Given the description of an element on the screen output the (x, y) to click on. 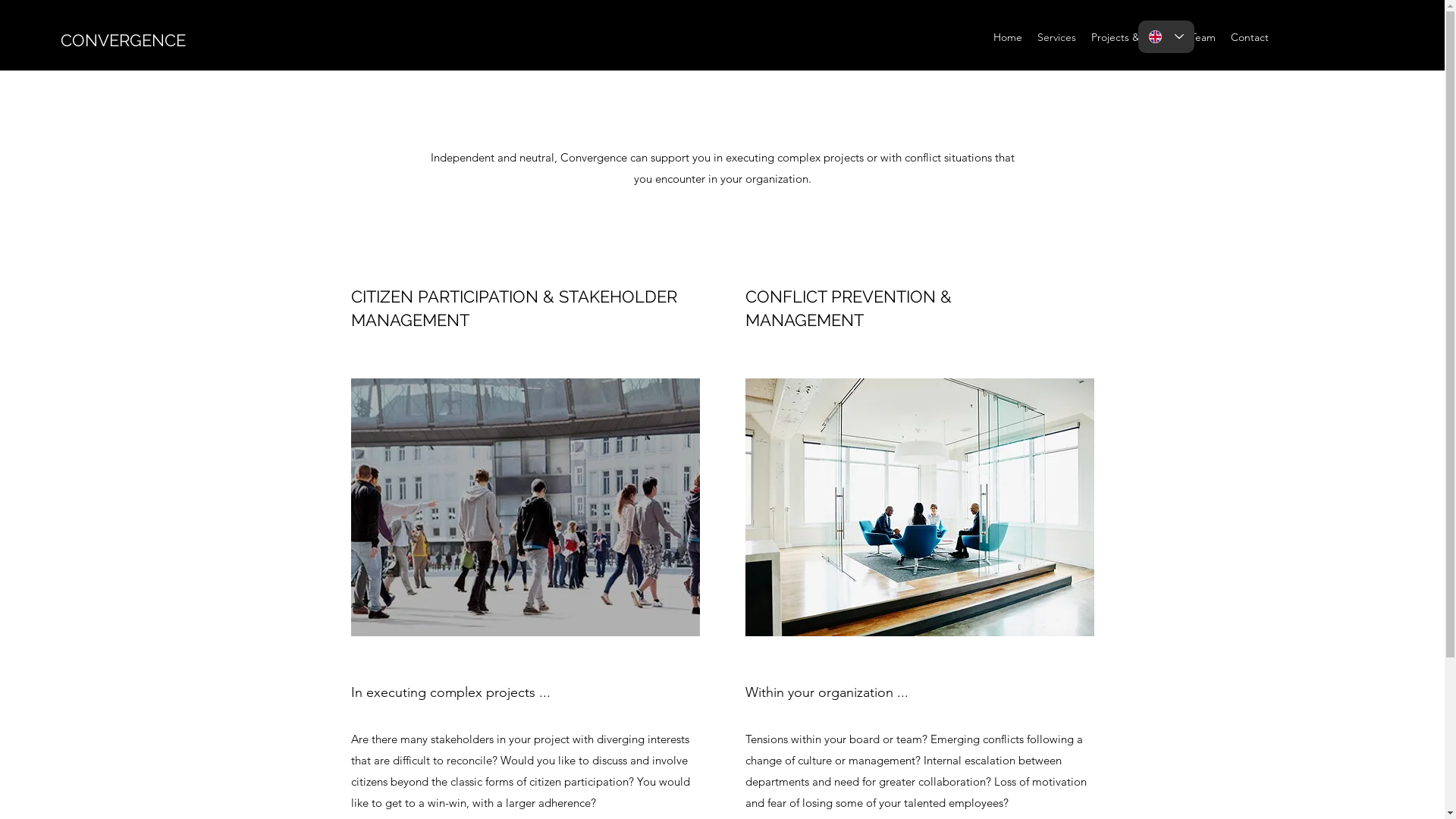
Projects & Clients Element type: text (1133, 36)
Home Element type: text (1007, 36)
CONVERGENCE Element type: text (122, 40)
Team Element type: text (1203, 36)
Contact Element type: text (1249, 36)
Services Element type: text (1056, 36)
